Given the description of an element on the screen output the (x, y) to click on. 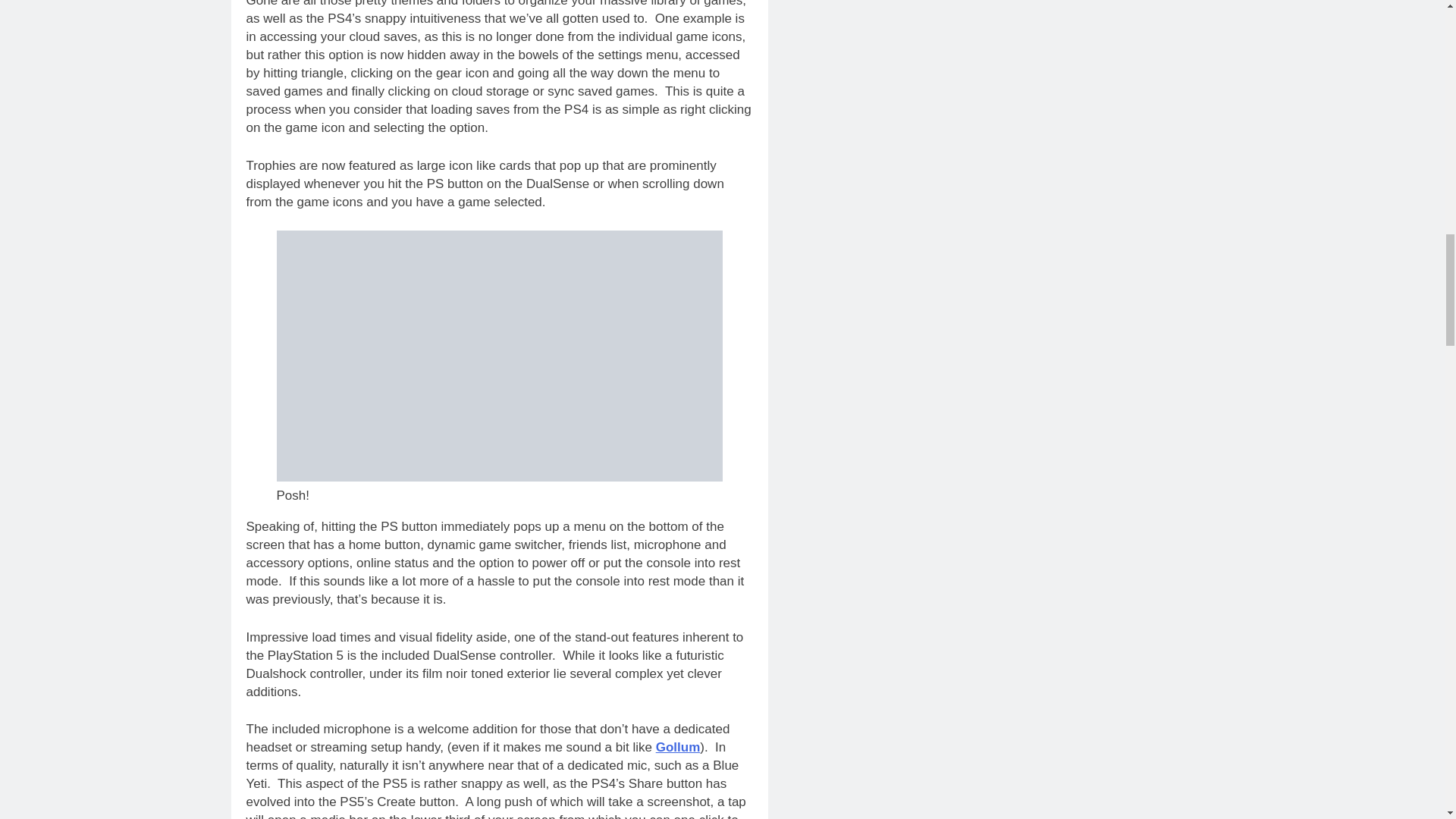
Gollum (678, 747)
